Given the description of an element on the screen output the (x, y) to click on. 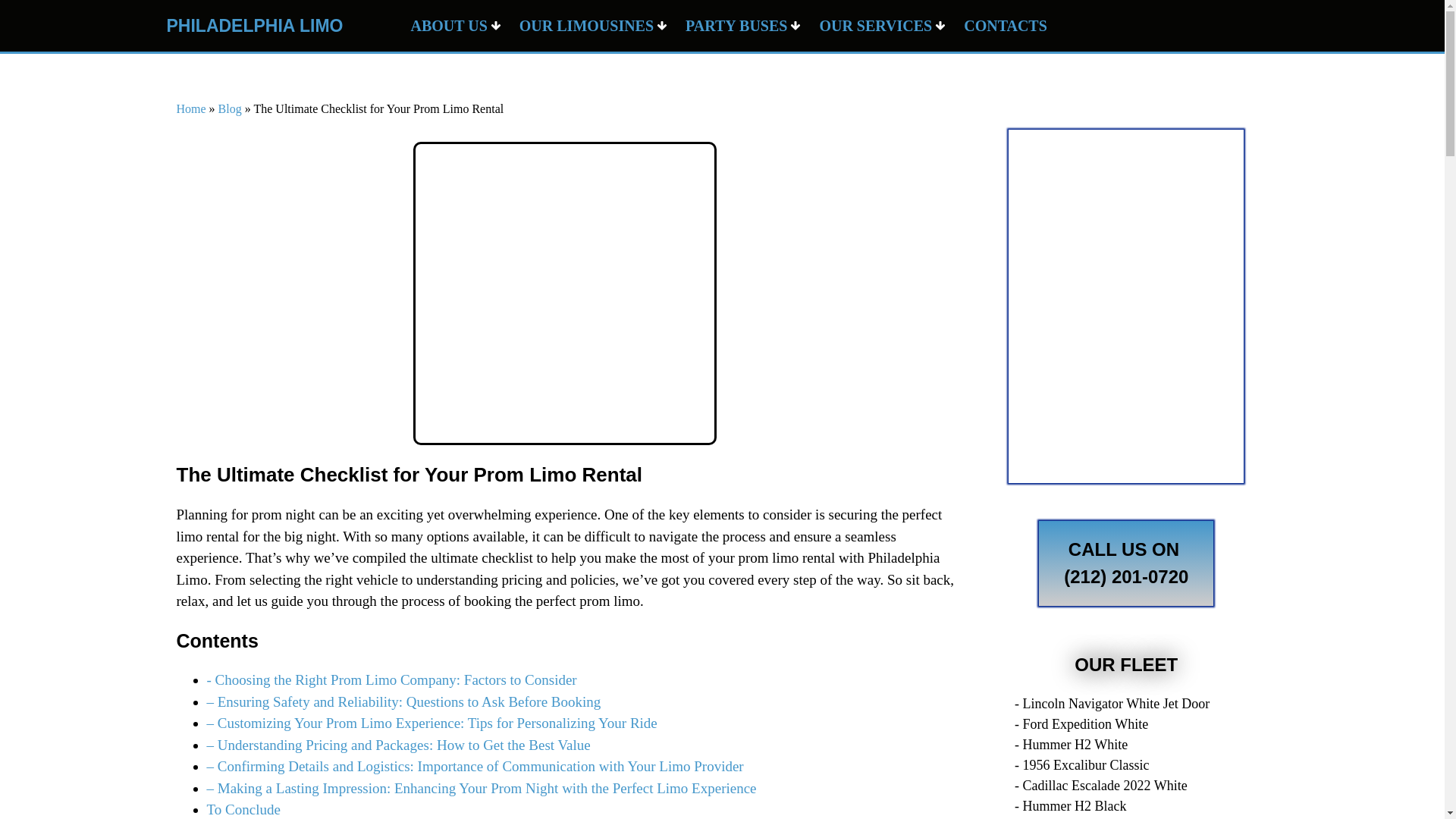
ABOUT US (455, 25)
The Ultimate Checklist For Your Prom Limo Rental (564, 293)
Hirealimo22 (1126, 306)
PARTY BUSES (743, 25)
Home (190, 108)
OUR LIMOUSINES (594, 25)
CONTACTS (1006, 25)
OUR SERVICES (882, 25)
PHILADELPHIA LIMO (253, 25)
Blog (229, 108)
